Given the description of an element on the screen output the (x, y) to click on. 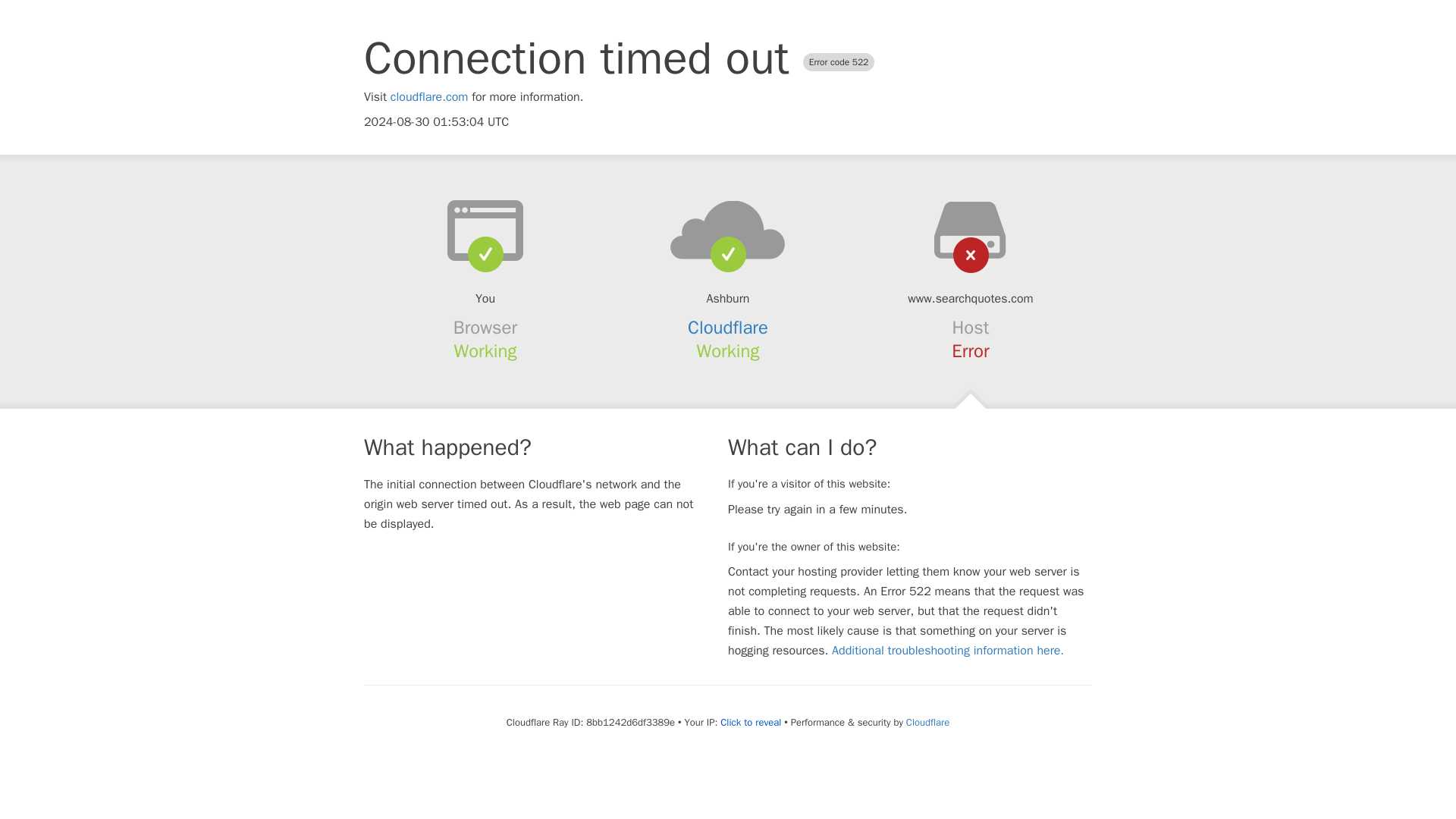
Additional troubleshooting information here. (947, 650)
cloudflare.com (429, 96)
Cloudflare (927, 721)
Cloudflare (727, 327)
Click to reveal (750, 722)
